Given the description of an element on the screen output the (x, y) to click on. 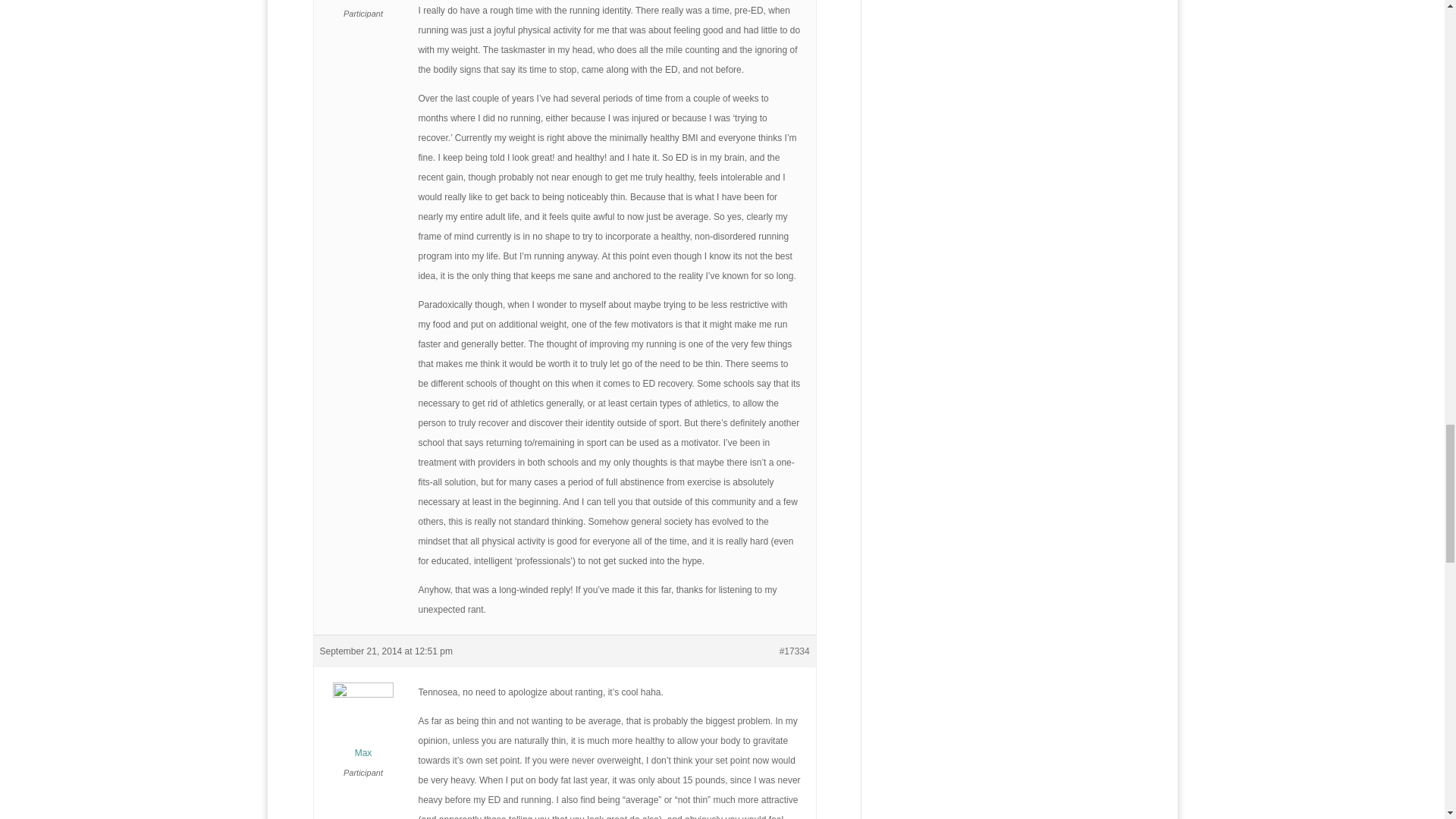
Max (363, 725)
View tennosea's profile (363, 2)
tennosea (363, 2)
View Max's profile (363, 725)
